Given the description of an element on the screen output the (x, y) to click on. 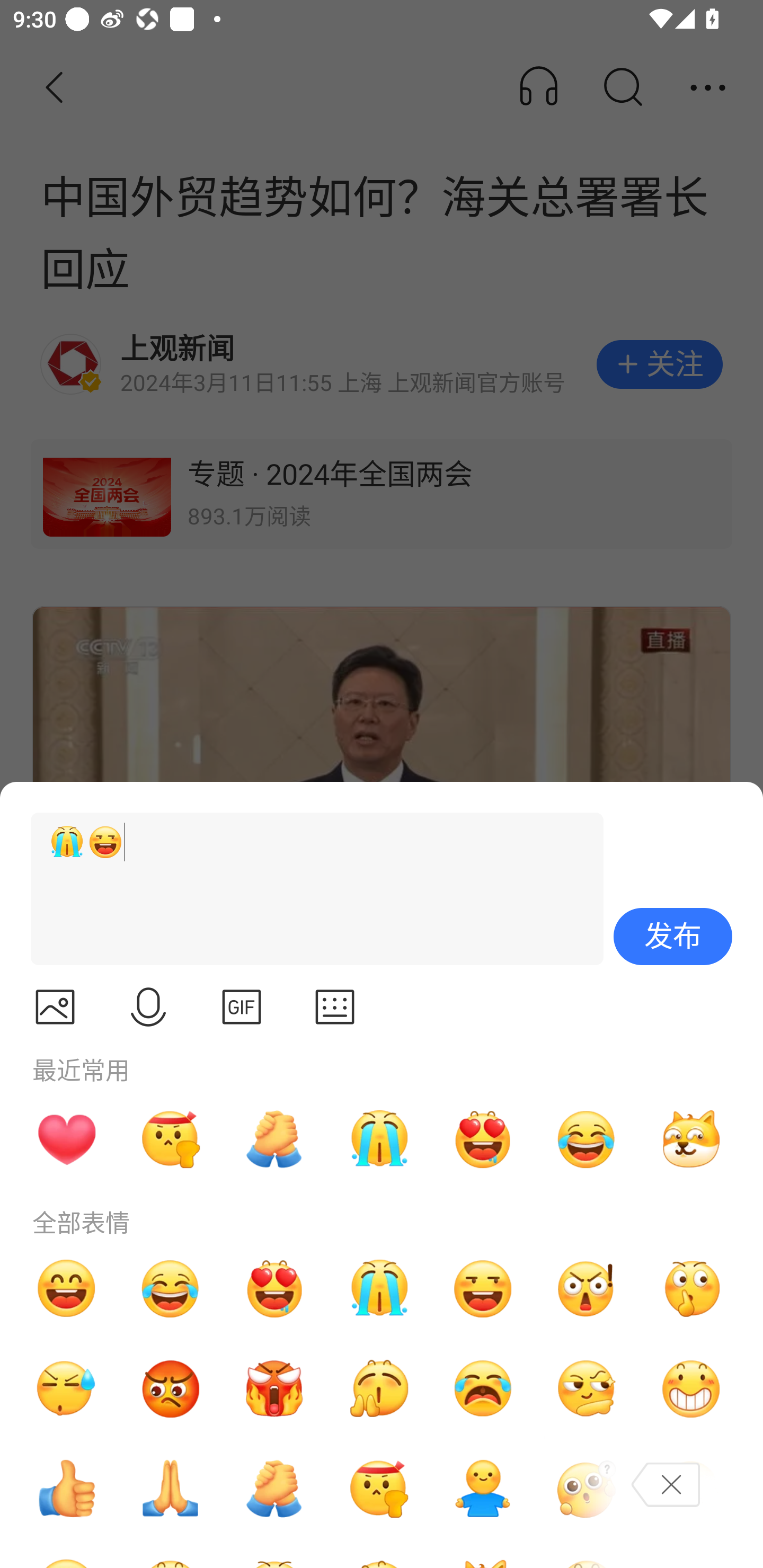
[哭][嘿嘿] (308, 888)
发布 (672, 936)
 (54, 1007)
 (148, 1007)
 (241, 1007)
 (334, 1007)
心 (66, 1138)
奋斗 (170, 1138)
加油 (274, 1138)
哭 (378, 1138)
喜欢 (482, 1138)
哭笑 (586, 1138)
奸笑 (690, 1138)
哈哈 (66, 1288)
哭笑 (170, 1288)
喜欢 (274, 1288)
哭 (378, 1288)
嘿嘿 (482, 1288)
吃惊 (586, 1288)
嘘 (690, 1288)
汗 (66, 1389)
生气 (170, 1389)
愤怒 (274, 1389)
喝彩 (378, 1389)
抓狂 (482, 1389)
机智 (586, 1389)
坏笑 (690, 1389)
点赞 (66, 1488)
缅怀 (170, 1488)
加油 (274, 1488)
奋斗 (378, 1488)
抱抱 (482, 1488)
疑问 (586, 1488)
捂脸 (690, 1488)
